Given the description of an element on the screen output the (x, y) to click on. 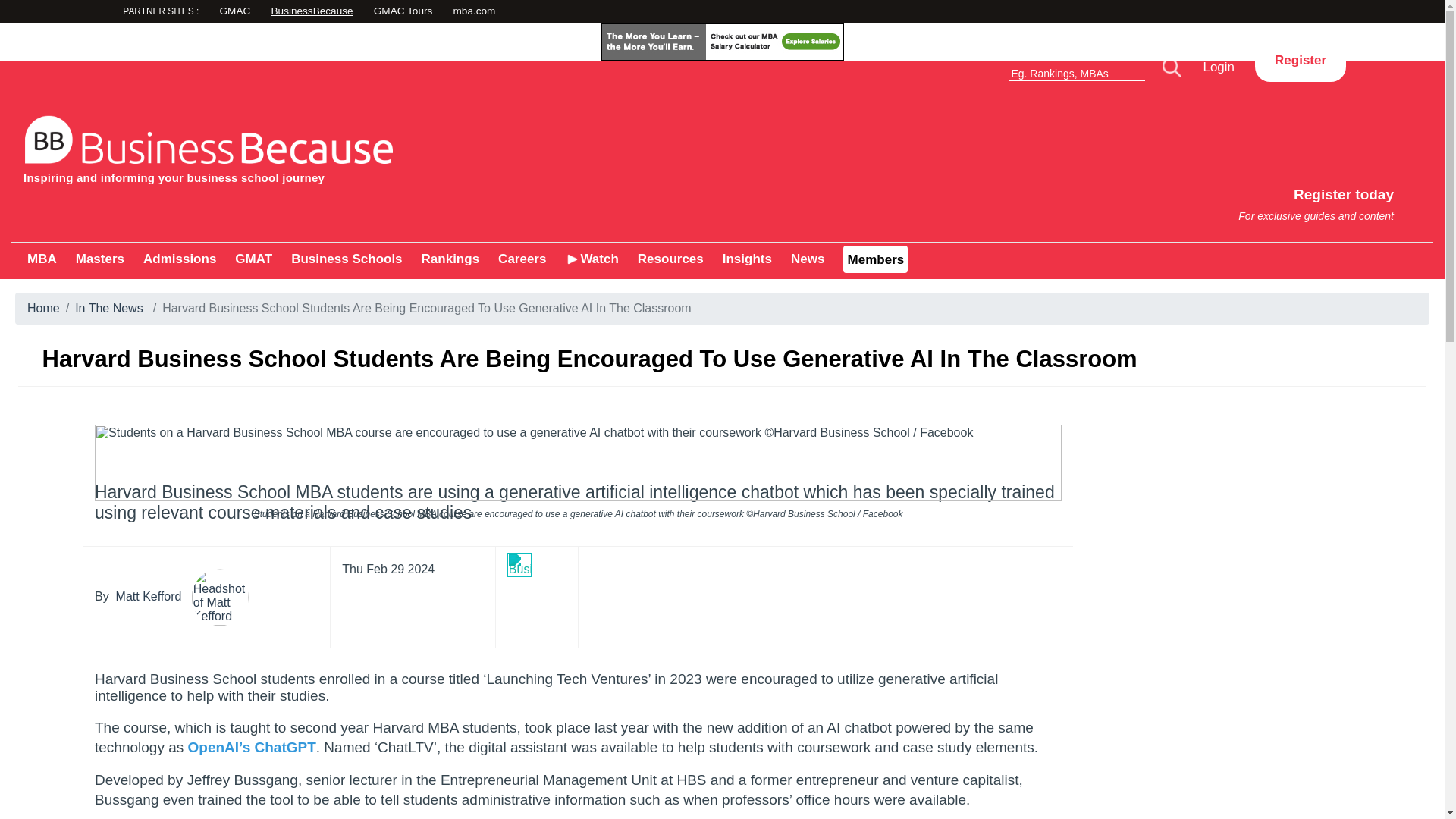
BusinessBecause (1089, 197)
mba.com (367, 12)
Business Schools (558, 12)
Register (346, 258)
MBA (1300, 60)
GMAC Tours (41, 258)
Admissions (474, 12)
PARTNER SITES : (178, 258)
Masters (189, 12)
